Given the description of an element on the screen output the (x, y) to click on. 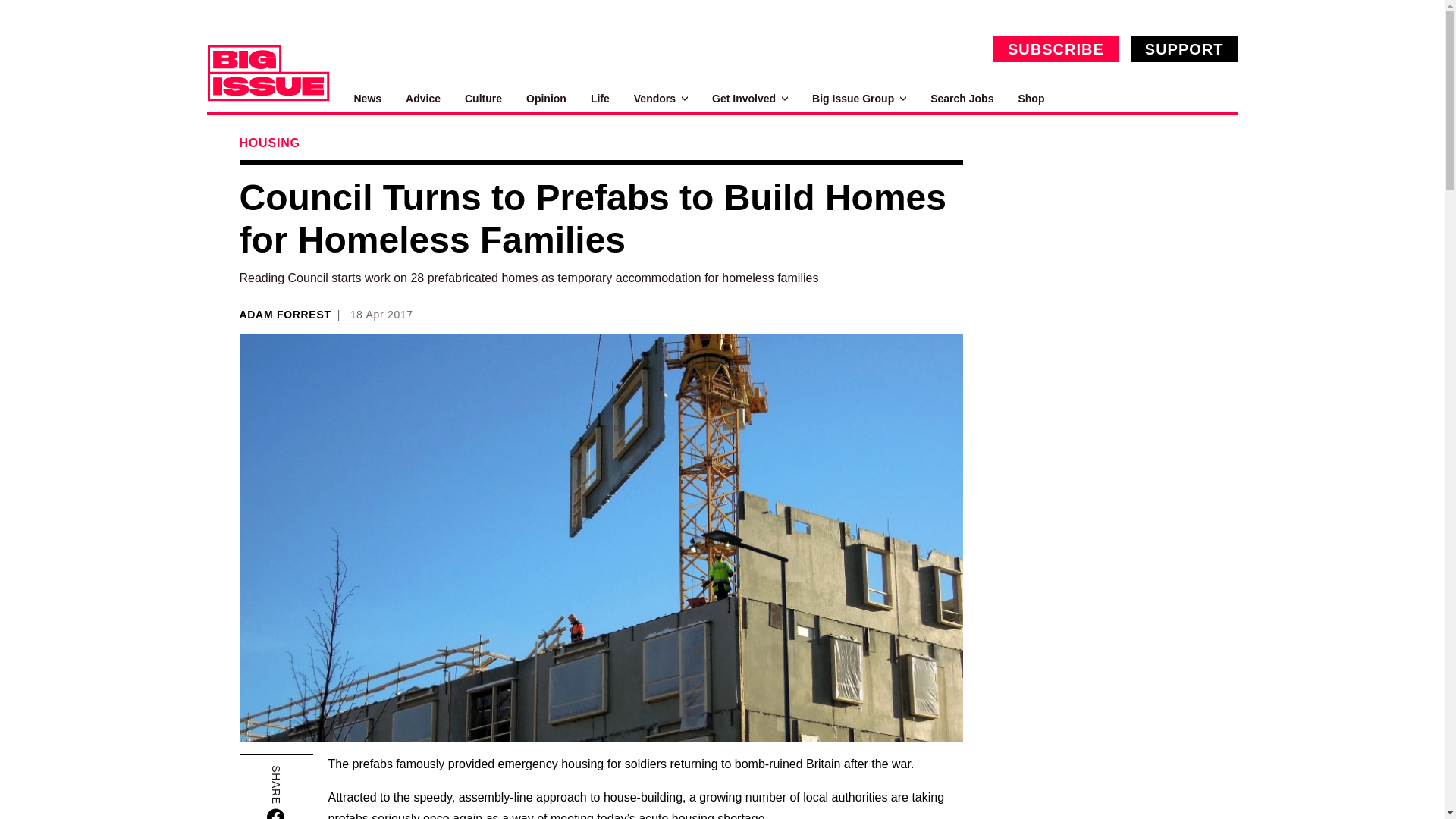
Get Involved (749, 98)
Subscribe (1055, 49)
Search (1220, 98)
Opinion (545, 98)
Search Jobs (961, 98)
Advice (423, 98)
Culture (483, 98)
SUBSCRIBE (1055, 49)
Vendors (660, 98)
Support (1185, 49)
